Given the description of an element on the screen output the (x, y) to click on. 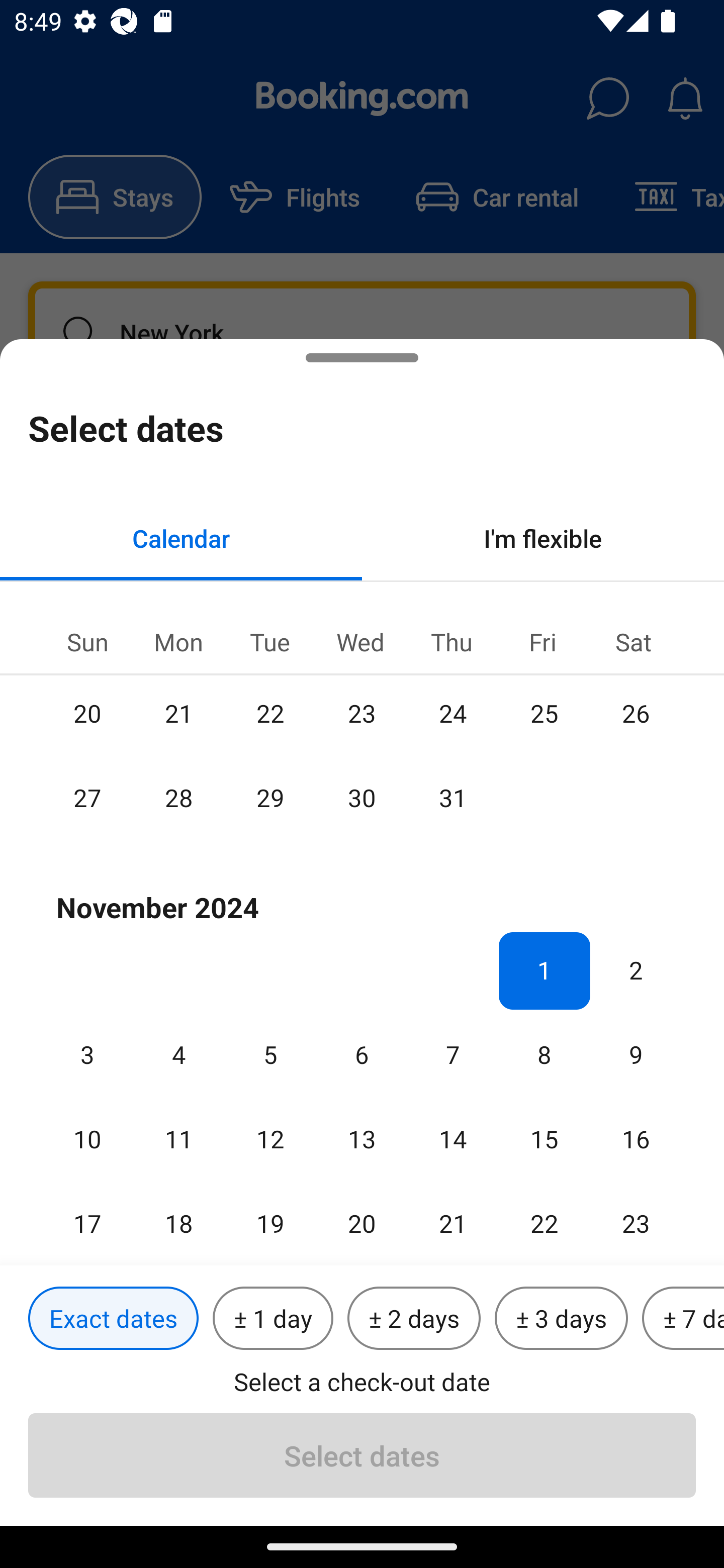
I'm flexible (543, 537)
Exact dates (113, 1318)
± 1 day (272, 1318)
± 2 days (413, 1318)
± 3 days (560, 1318)
± 7 days (683, 1318)
Select dates (361, 1454)
